Given the description of an element on the screen output the (x, y) to click on. 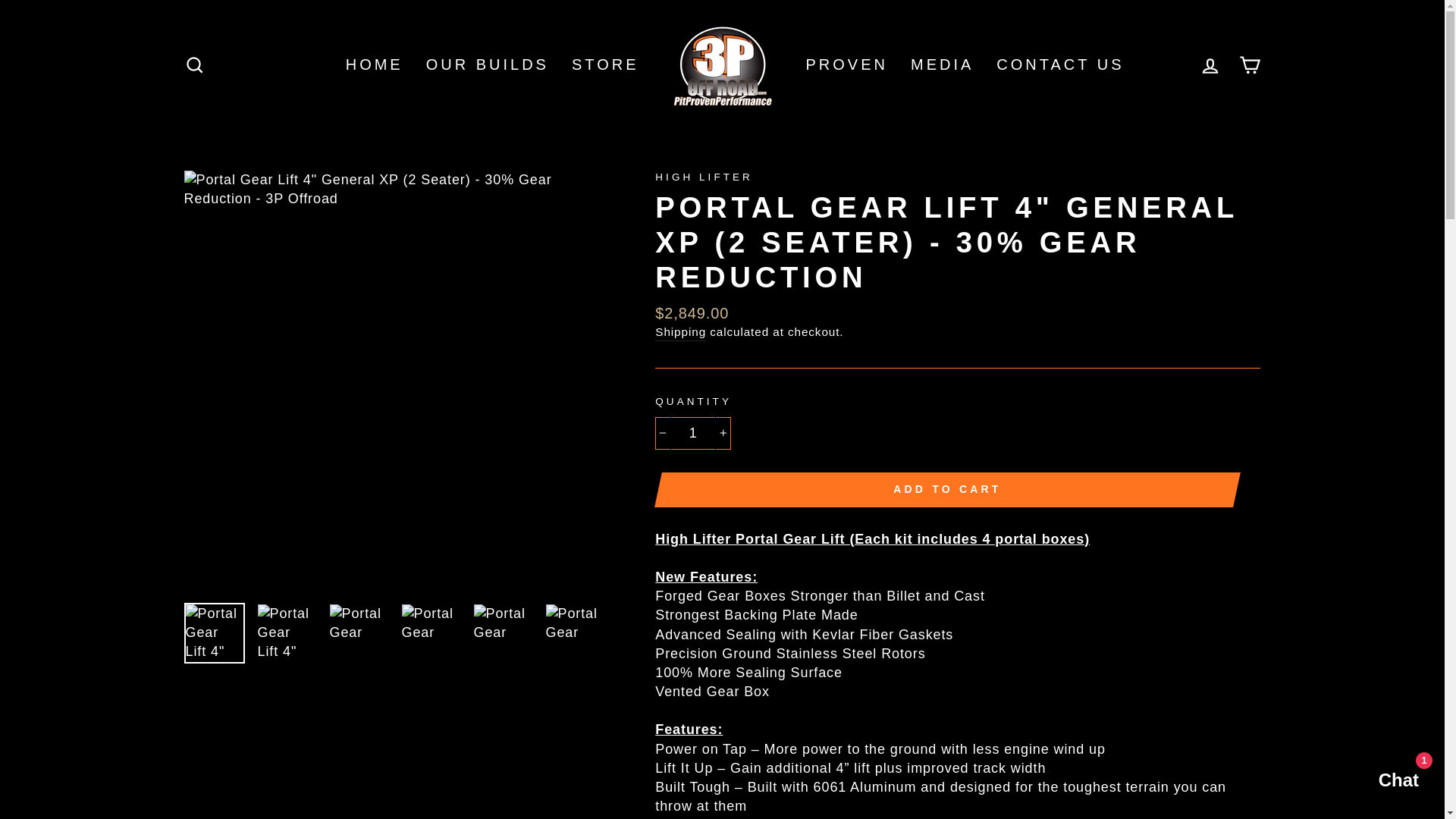
Shopify online store chat (1383, 781)
1 (692, 432)
High Lifter (703, 176)
